Given the description of an element on the screen output the (x, y) to click on. 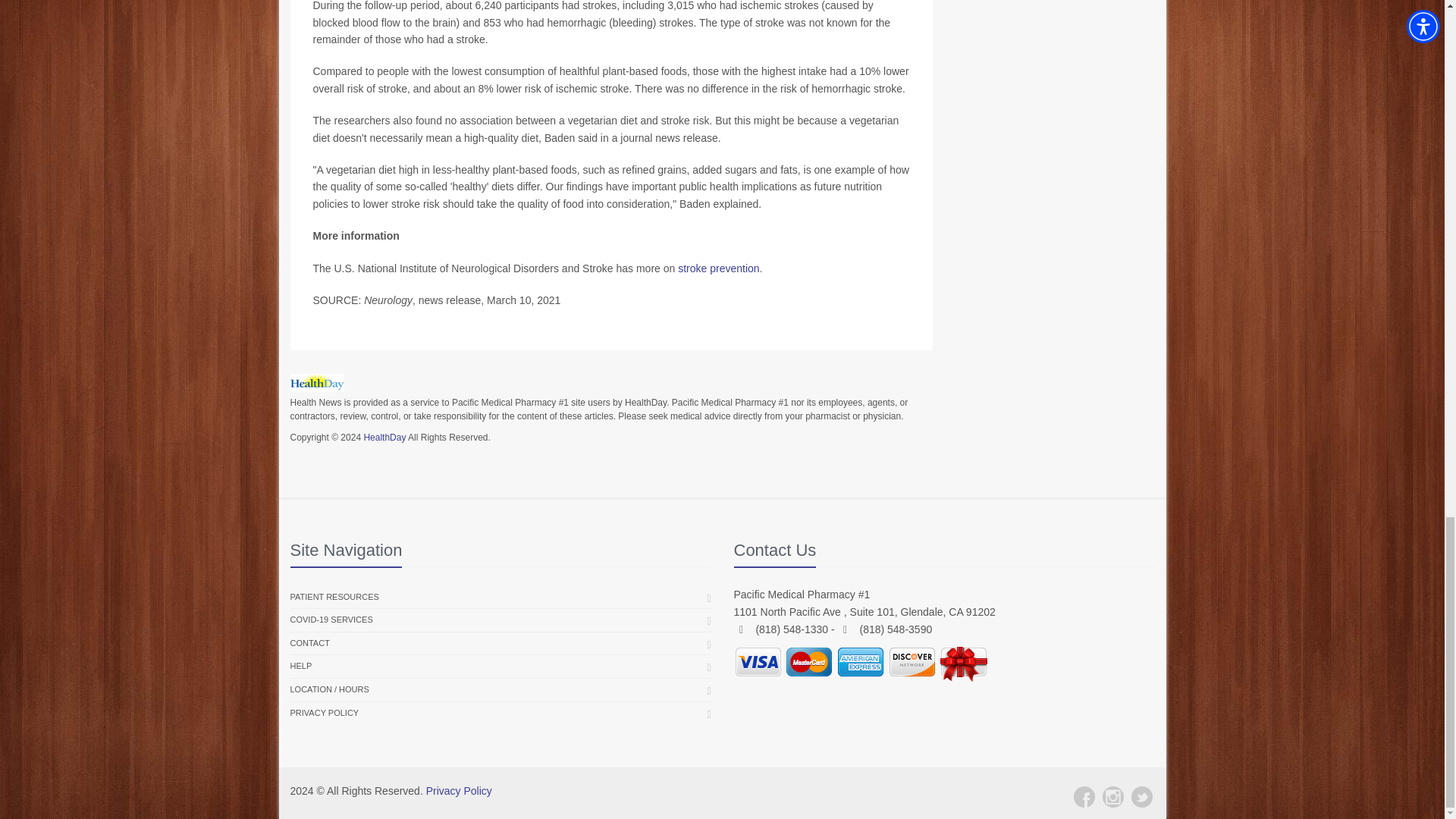
HealthDay (384, 437)
stroke prevention (718, 268)
